Given the description of an element on the screen output the (x, y) to click on. 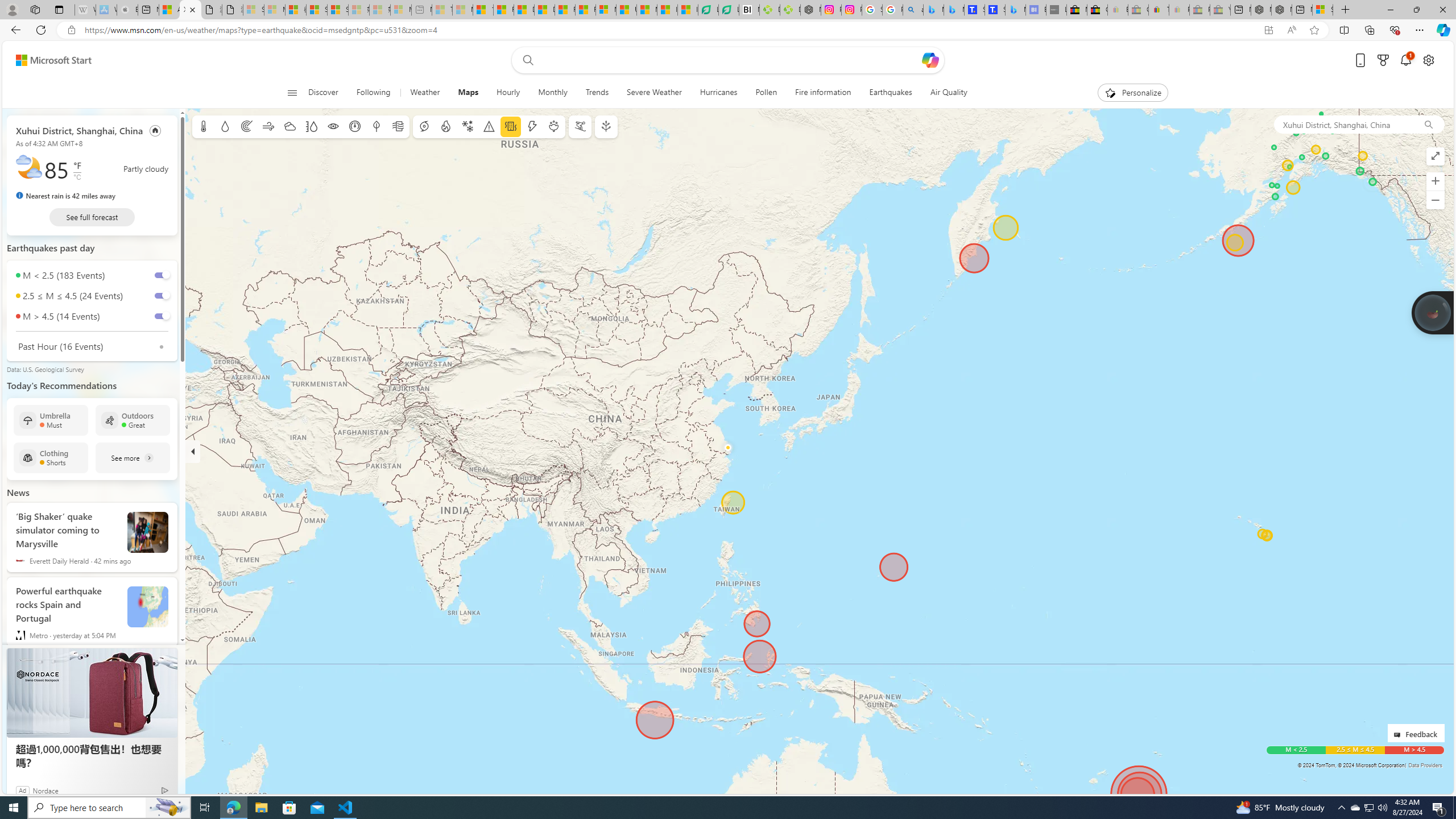
Descarga Driver Updater (789, 9)
Skip to footer (46, 59)
Hurricane (423, 126)
Buy iPad - Apple - Sleeping (127, 9)
Sign in to your Microsoft account (1322, 9)
Severe weather (489, 126)
Humidity (311, 126)
